Given the description of an element on the screen output the (x, y) to click on. 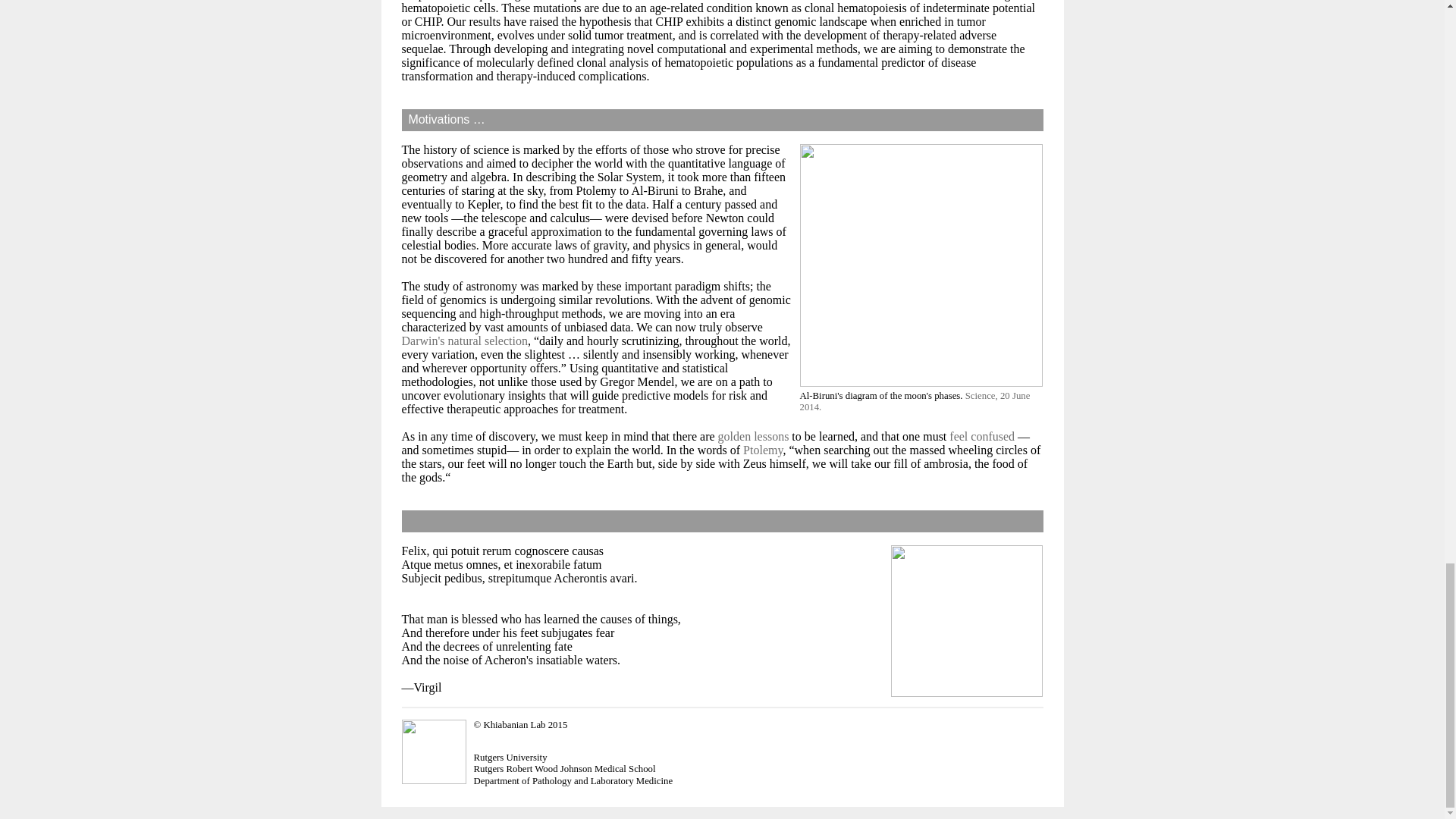
feel confused (981, 436)
Science 20 June 2014 (914, 401)
Darwin's natural selection (464, 340)
Ptolemy (762, 449)
golden lessons (753, 436)
Science, 20 June 2014. (914, 401)
Richard Feynman: Feeling Of Confusion (981, 436)
